Given the description of an element on the screen output the (x, y) to click on. 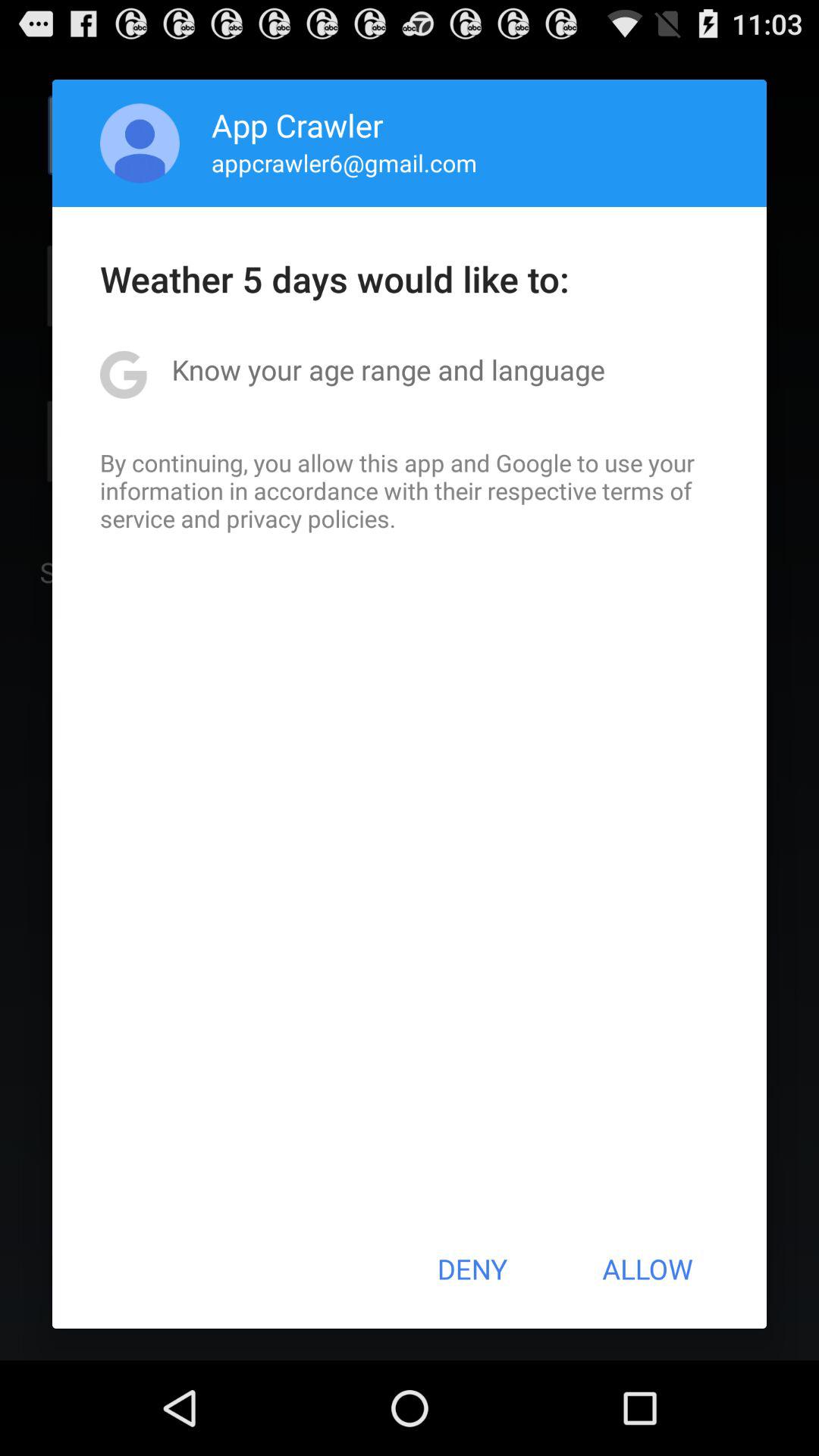
click appcrawler6@gmail.com app (344, 162)
